Given the description of an element on the screen output the (x, y) to click on. 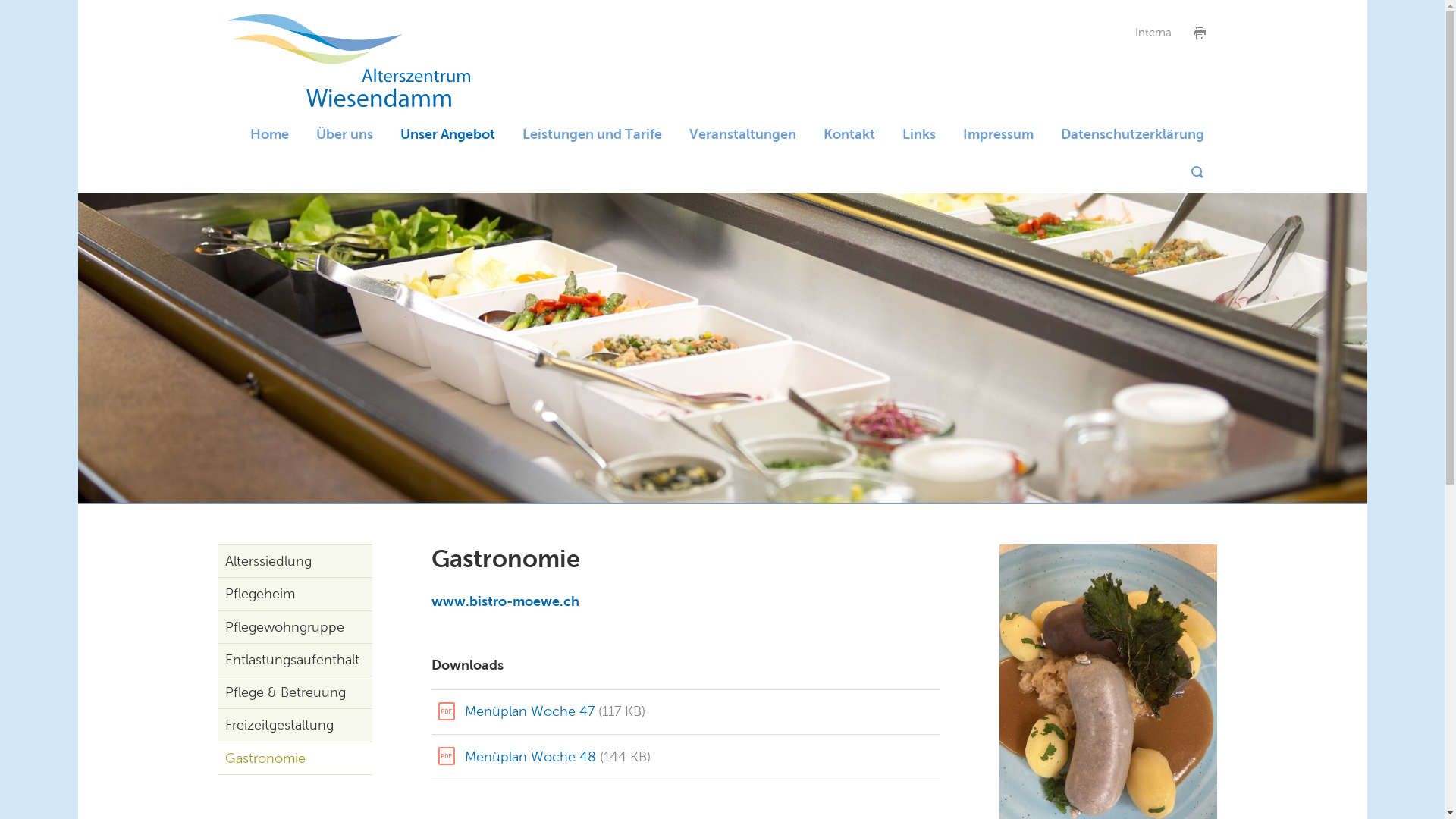
Links Element type: text (918, 133)
Pflegewohngruppe Element type: text (295, 626)
Home Element type: text (269, 133)
Gastronomie Element type: text (295, 758)
Impressum Element type: text (998, 133)
Pflege & Betreuung Element type: text (295, 692)
Leistungen und Tarife Element type: text (591, 133)
Pflegeheim Element type: text (295, 593)
Kontakt Element type: text (848, 133)
Alterssiedlung Element type: text (295, 560)
Freizeitgestaltung Element type: text (295, 724)
Entlastungsaufenthalt Element type: text (295, 659)
Interna Element type: text (1153, 33)
Veranstaltungen Element type: text (741, 133)
Unser Angebot Element type: text (447, 133)
www.bistro-moewe.ch Element type: text (505, 600)
